Given the description of an element on the screen output the (x, y) to click on. 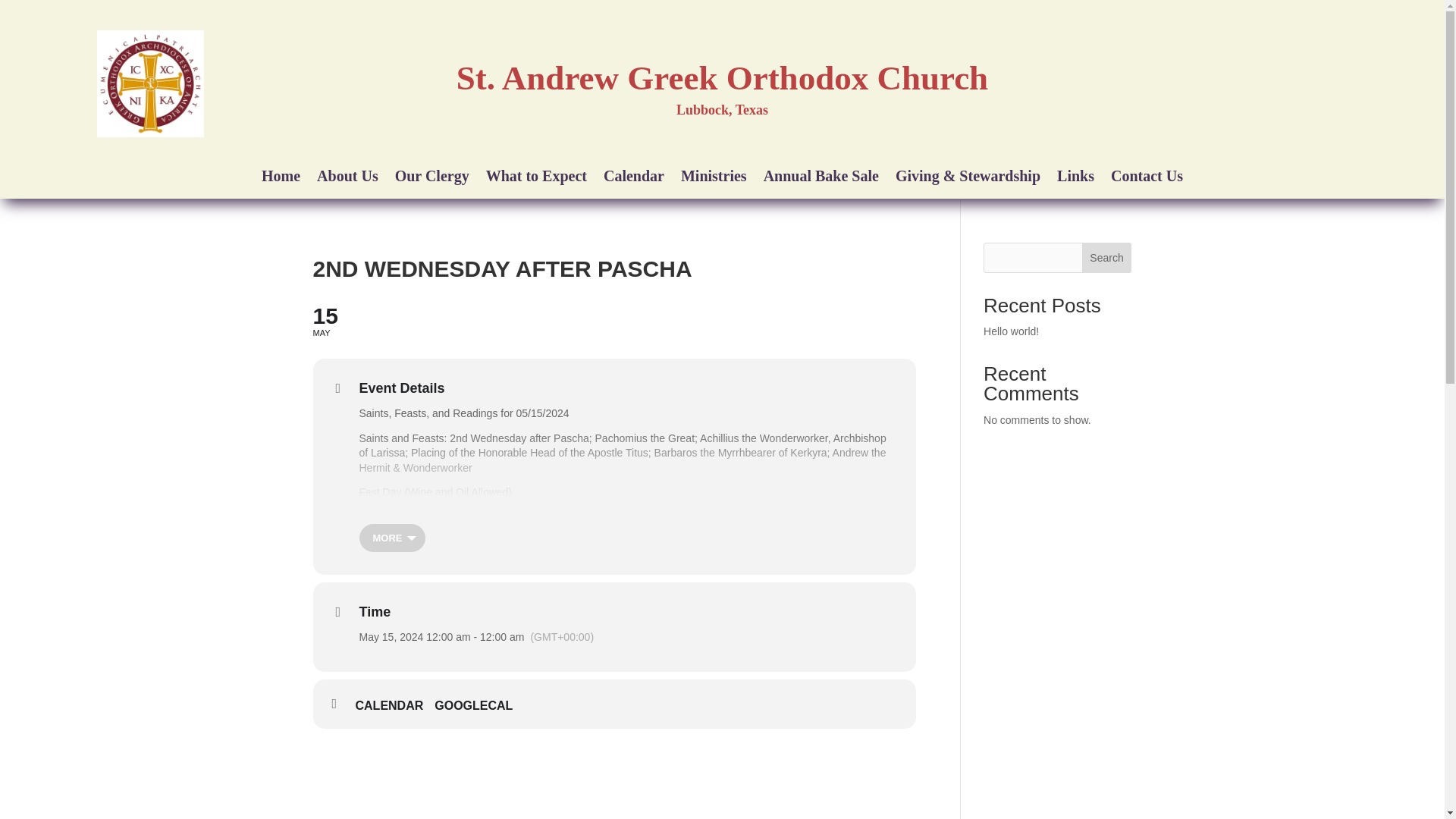
What to Expect (536, 178)
Hello world! (1011, 331)
Links (1075, 178)
Home (280, 178)
Annual Bake Sale (820, 178)
Add to google calendar (478, 705)
About Us (347, 178)
Calendar (633, 178)
CALENDAR (394, 705)
Our Clergy (431, 178)
GOOGLECAL (478, 705)
Ministries (713, 178)
Contact Us (1146, 178)
Search (614, 320)
